Given the description of an element on the screen output the (x, y) to click on. 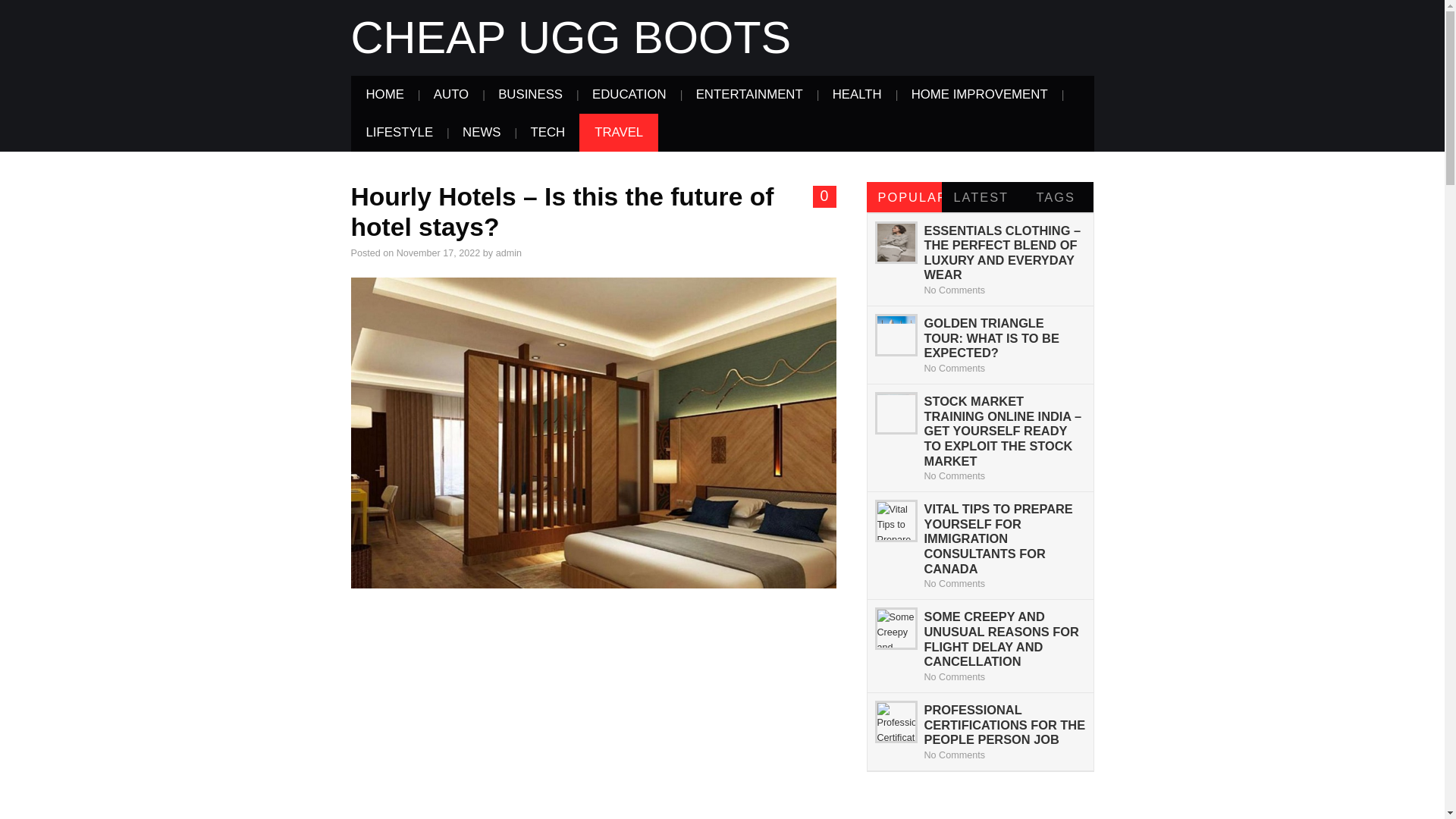
CHEAP UGG BOOTS (570, 37)
11:31 am (438, 253)
TAGS (1055, 196)
EDUCATION (628, 94)
HEALTH (856, 94)
ENTERTAINMENT (749, 94)
0 (823, 196)
NEWS (480, 132)
GOLDEN TRIANGLE TOUR: WHAT IS TO BE EXPECTED? (990, 337)
